Given the description of an element on the screen output the (x, y) to click on. 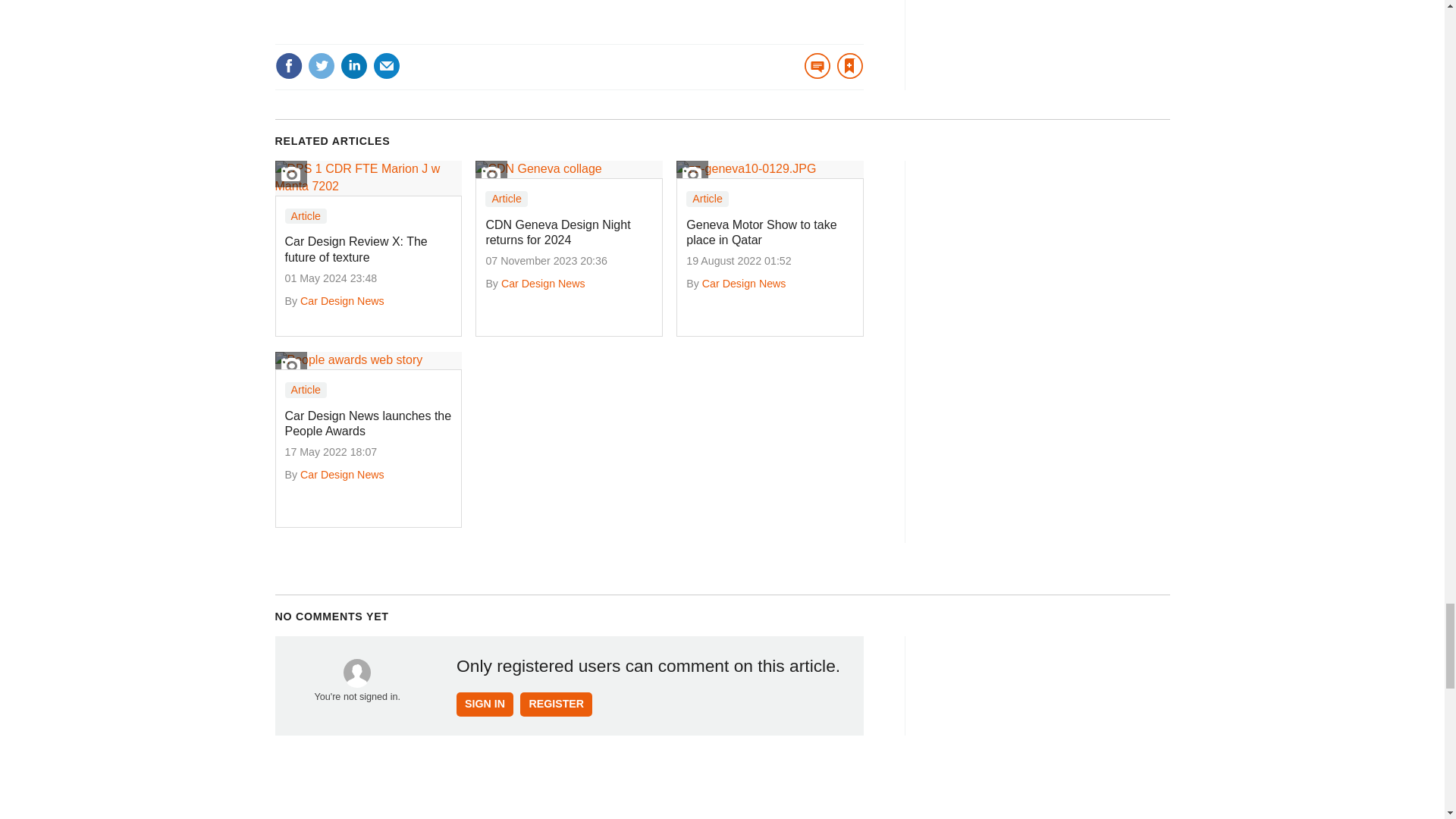
Share this on Linked in (352, 65)
Share this on Facebook (288, 65)
Email this article (386, 65)
Share this on Twitter (320, 65)
No comments (811, 74)
